Given the description of an element on the screen output the (x, y) to click on. 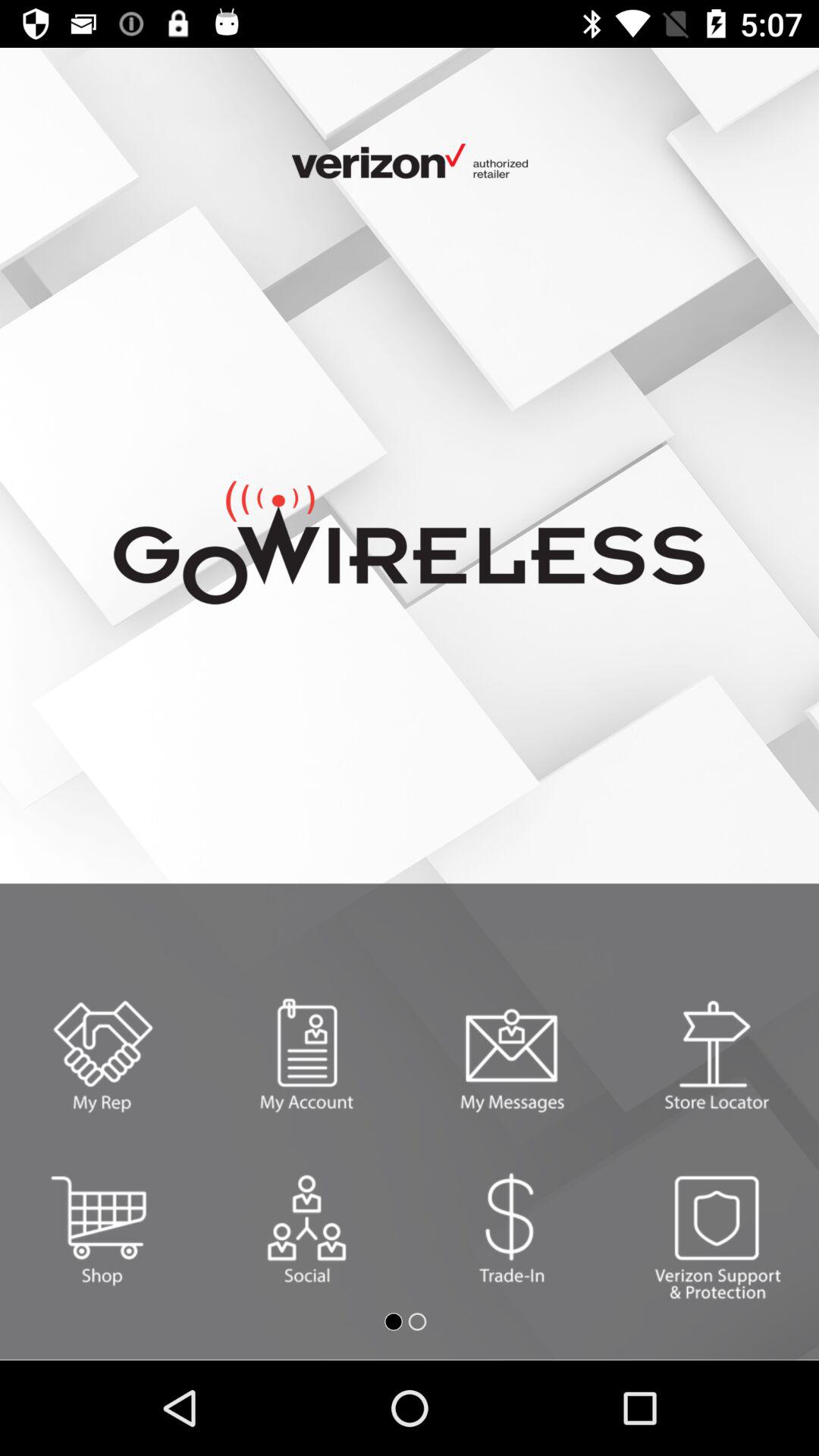
store locator (716, 1055)
